Given the description of an element on the screen output the (x, y) to click on. 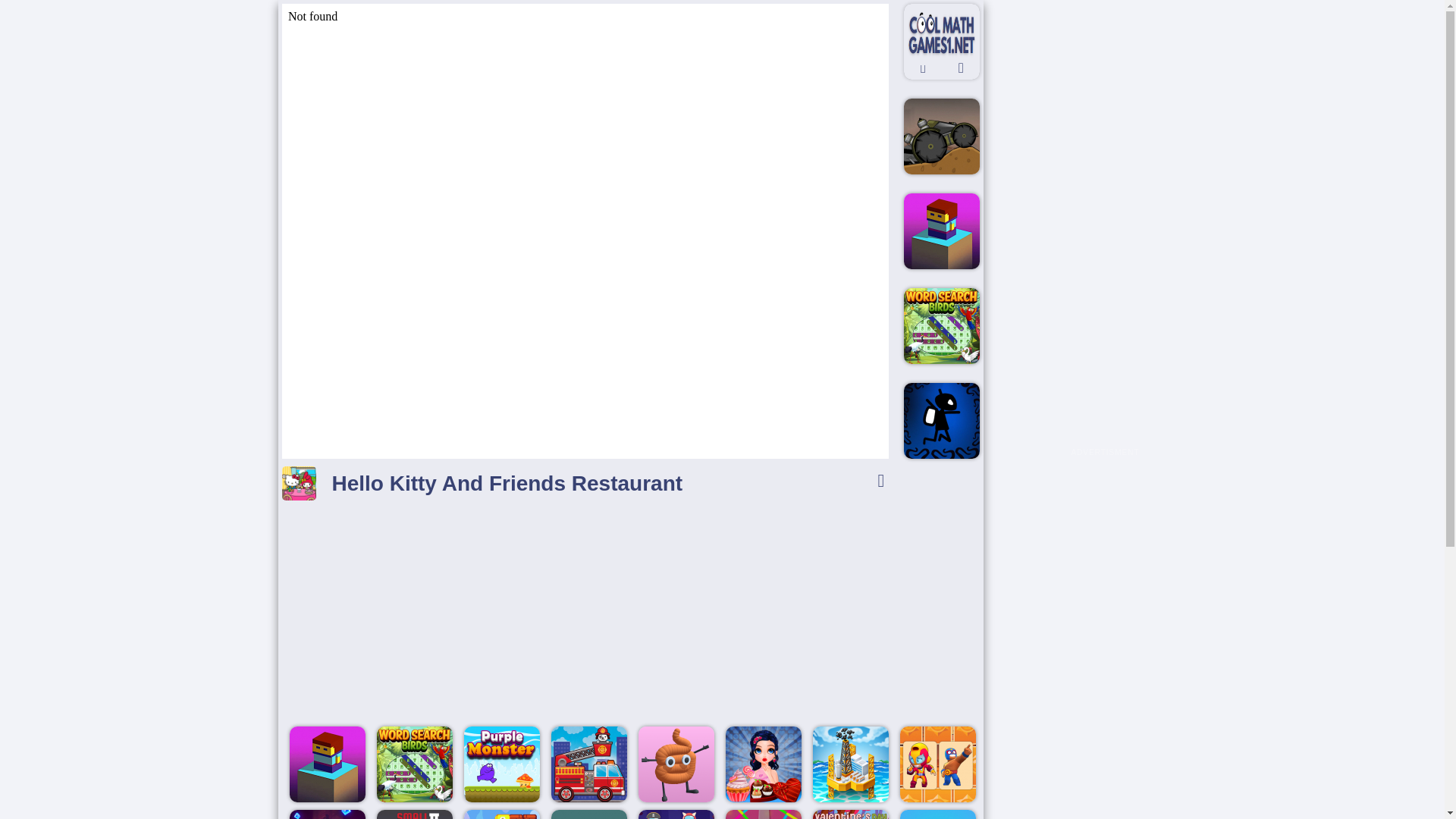
Bullet Car (941, 136)
Oil Tycoon 2 (850, 764)
Purple Monster Adventure (502, 764)
Fighting Stars Memory (937, 764)
Small Archer 2 (414, 814)
Word Search Birds (414, 764)
Keep Jump to Sky (327, 764)
Baby Chicco Adventures (502, 814)
Marie Prepares Treat (763, 764)
Word Search Birds (941, 325)
Fullscreen (880, 480)
Escape From Nightmare (941, 420)
Fire Trucks Differences (589, 764)
Keep Jump to Sky (941, 231)
